Given the description of an element on the screen output the (x, y) to click on. 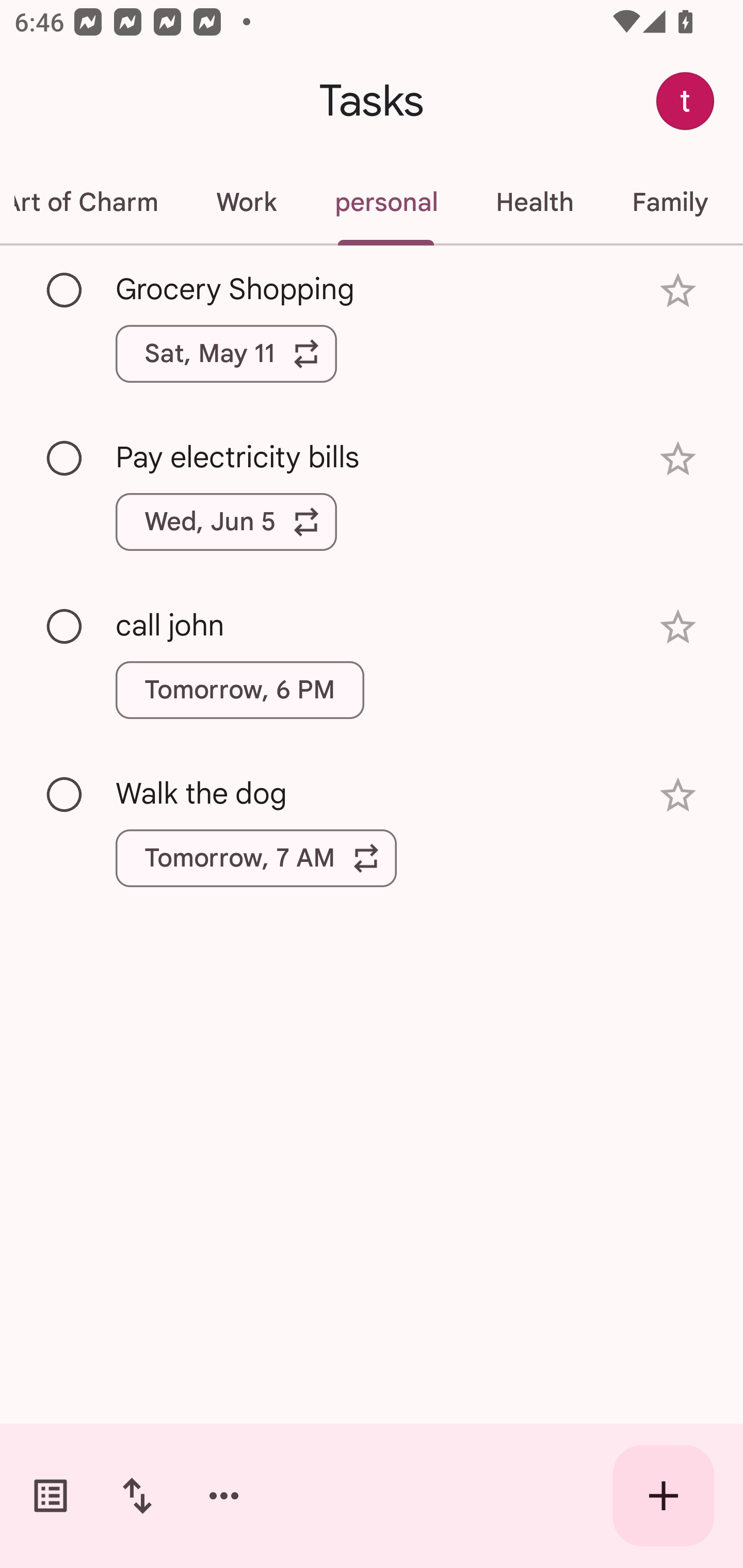
The Art of Charm (93, 202)
Work (245, 202)
Health (534, 202)
Family (669, 202)
Add star (677, 290)
Mark as complete (64, 290)
Sat, May 11 (225, 353)
Add star (677, 458)
Mark as complete (64, 459)
Wed, Jun 5 (225, 522)
Add star (677, 627)
Mark as complete (64, 627)
Tomorrow, 6 PM (239, 689)
Add star (677, 795)
Mark as complete (64, 794)
Tomorrow, 7 AM (255, 858)
Switch task lists (50, 1495)
Create new task (663, 1495)
Change sort order (136, 1495)
More options (223, 1495)
